Given the description of an element on the screen output the (x, y) to click on. 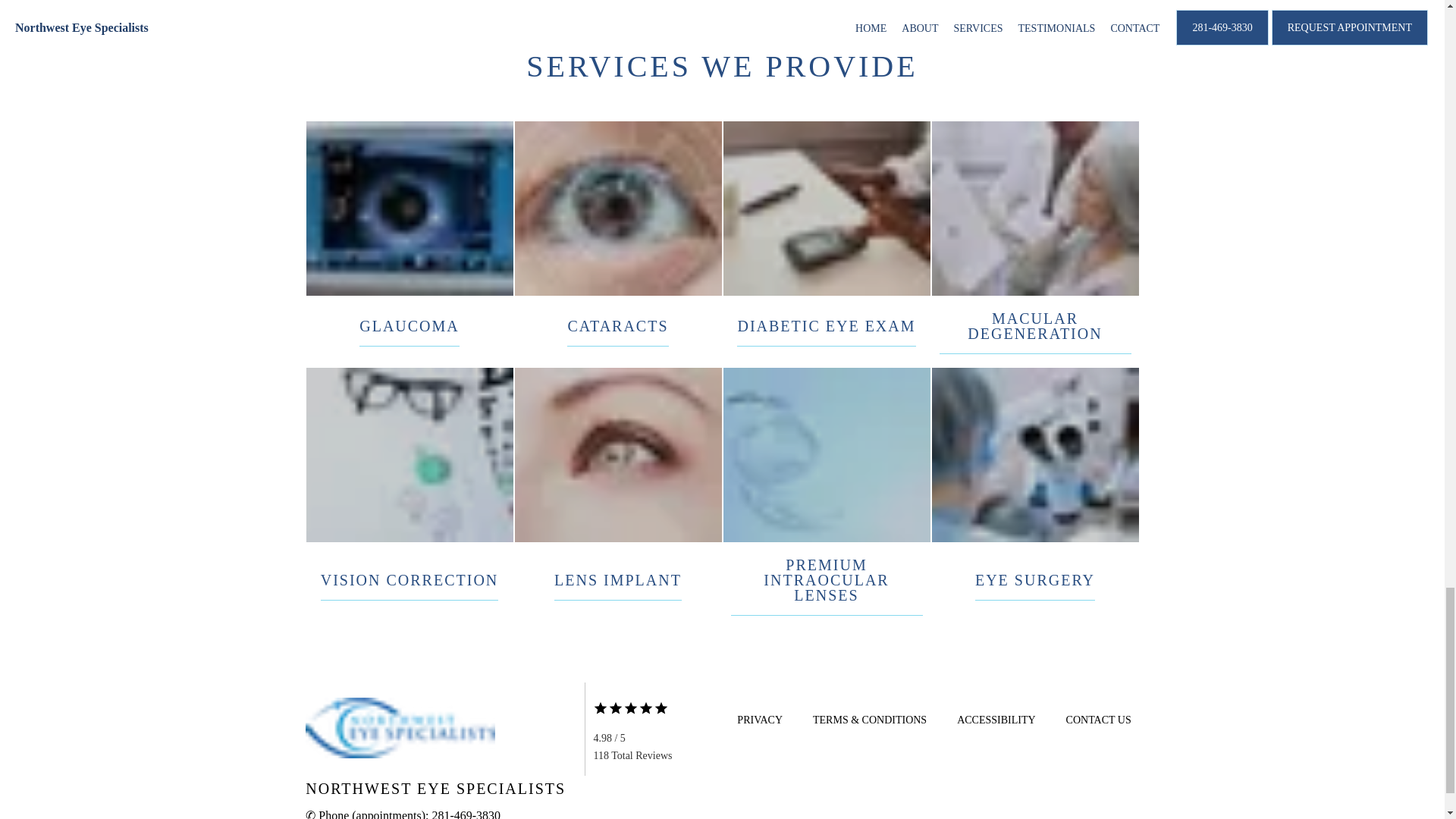
CONTACT US (1098, 719)
CATARACTS (617, 326)
DIABETIC EYE EXAM (825, 326)
ACCESSIBILITY (995, 719)
PRIVACY (759, 719)
LENS IMPLANT (617, 580)
VISION CORRECTION (409, 580)
MACULAR DEGENERATION (1035, 325)
EYE SURGERY (1034, 580)
GLAUCOMA (409, 326)
